Given the description of an element on the screen output the (x, y) to click on. 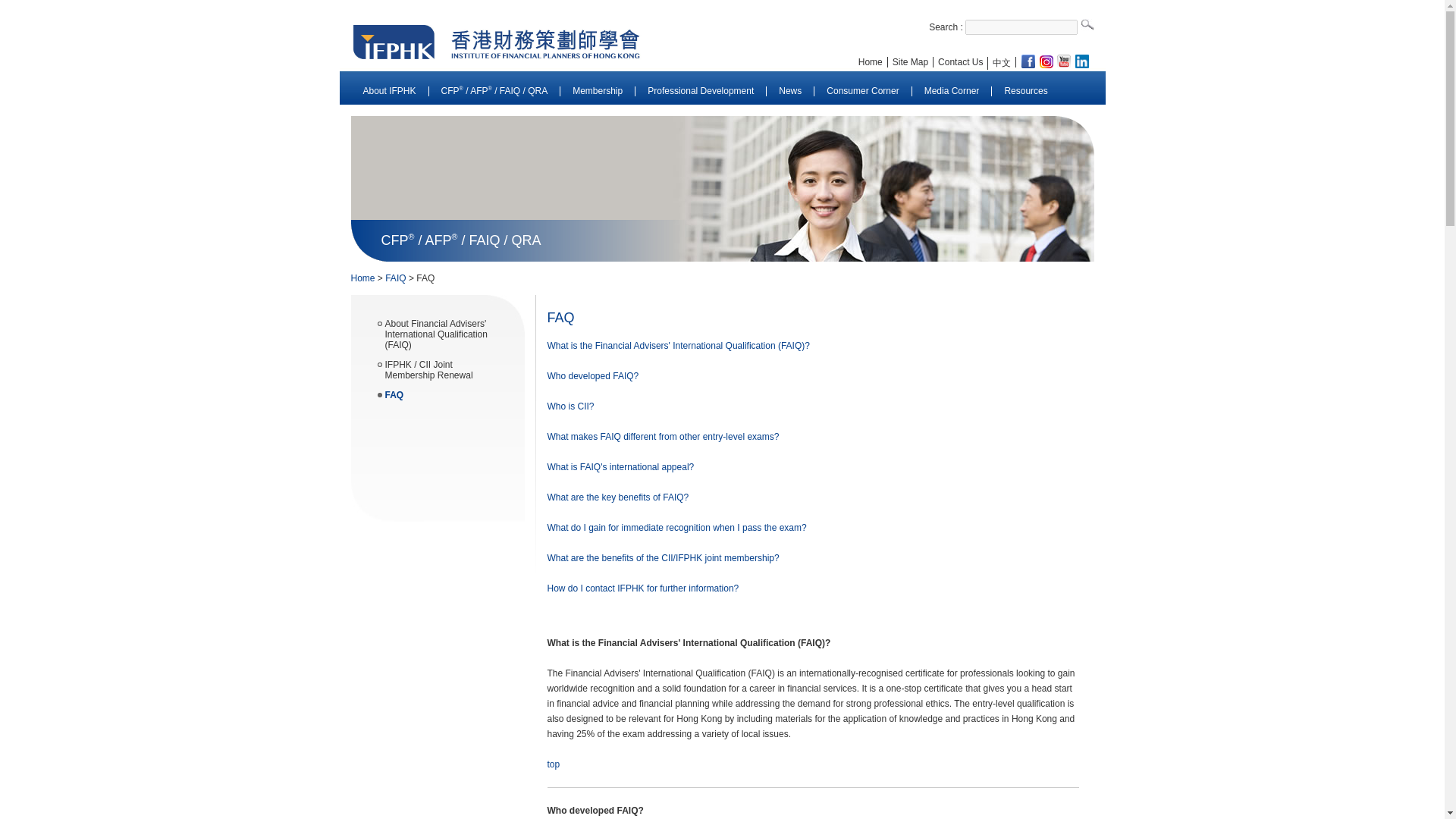
Professional Development (700, 90)
Home (870, 61)
Membership (597, 90)
Media Corner (951, 90)
About IFPHK (388, 90)
News (790, 90)
Resources (1025, 90)
Consumer Corner (862, 90)
Site Map (910, 61)
Contact Us (959, 61)
